Given the description of an element on the screen output the (x, y) to click on. 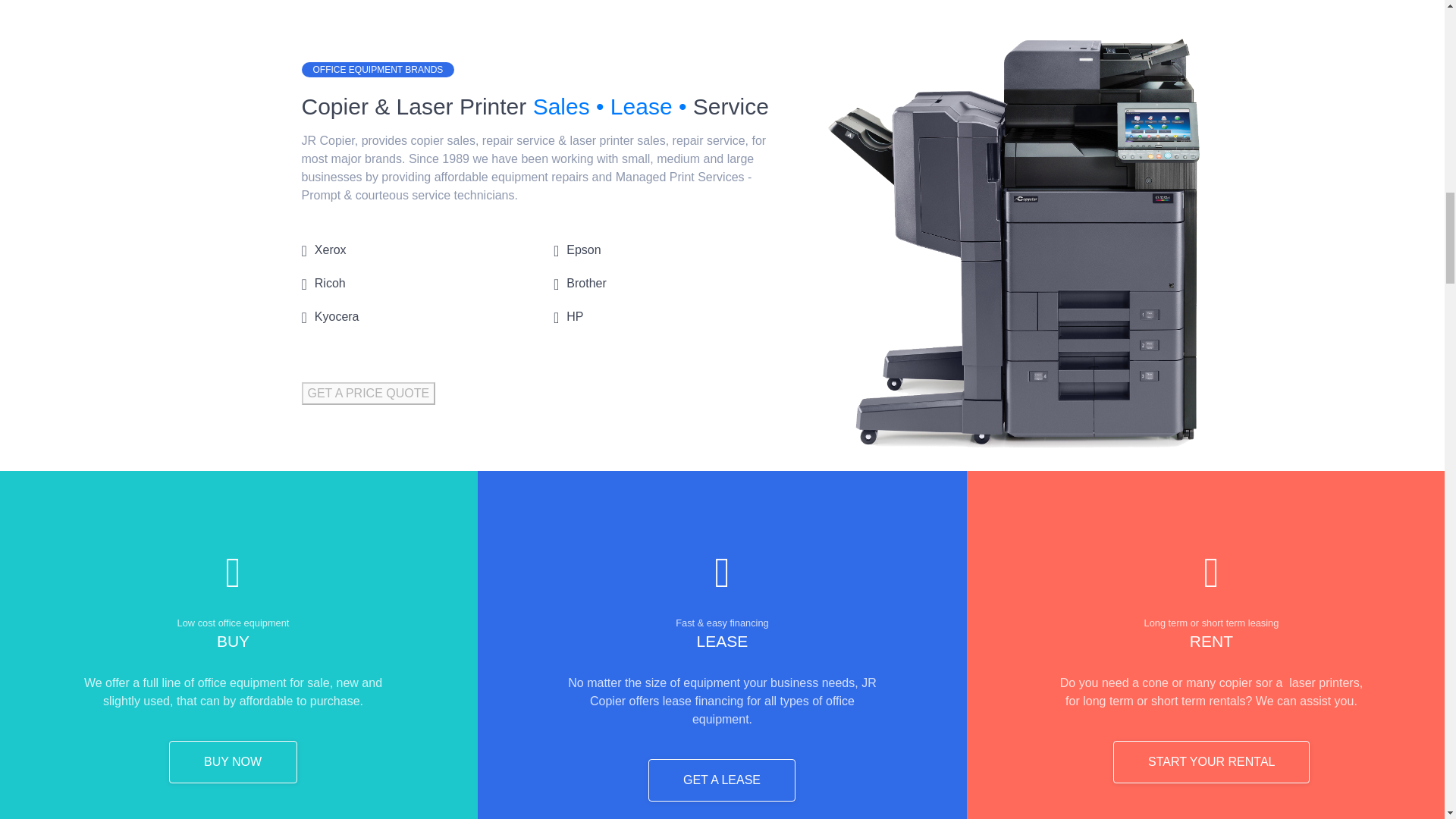
GET A LEASE (720, 780)
START YOUR RENTAL (1210, 761)
BUY NOW (232, 761)
GET A PRICE QUOTE (368, 393)
